Given the description of an element on the screen output the (x, y) to click on. 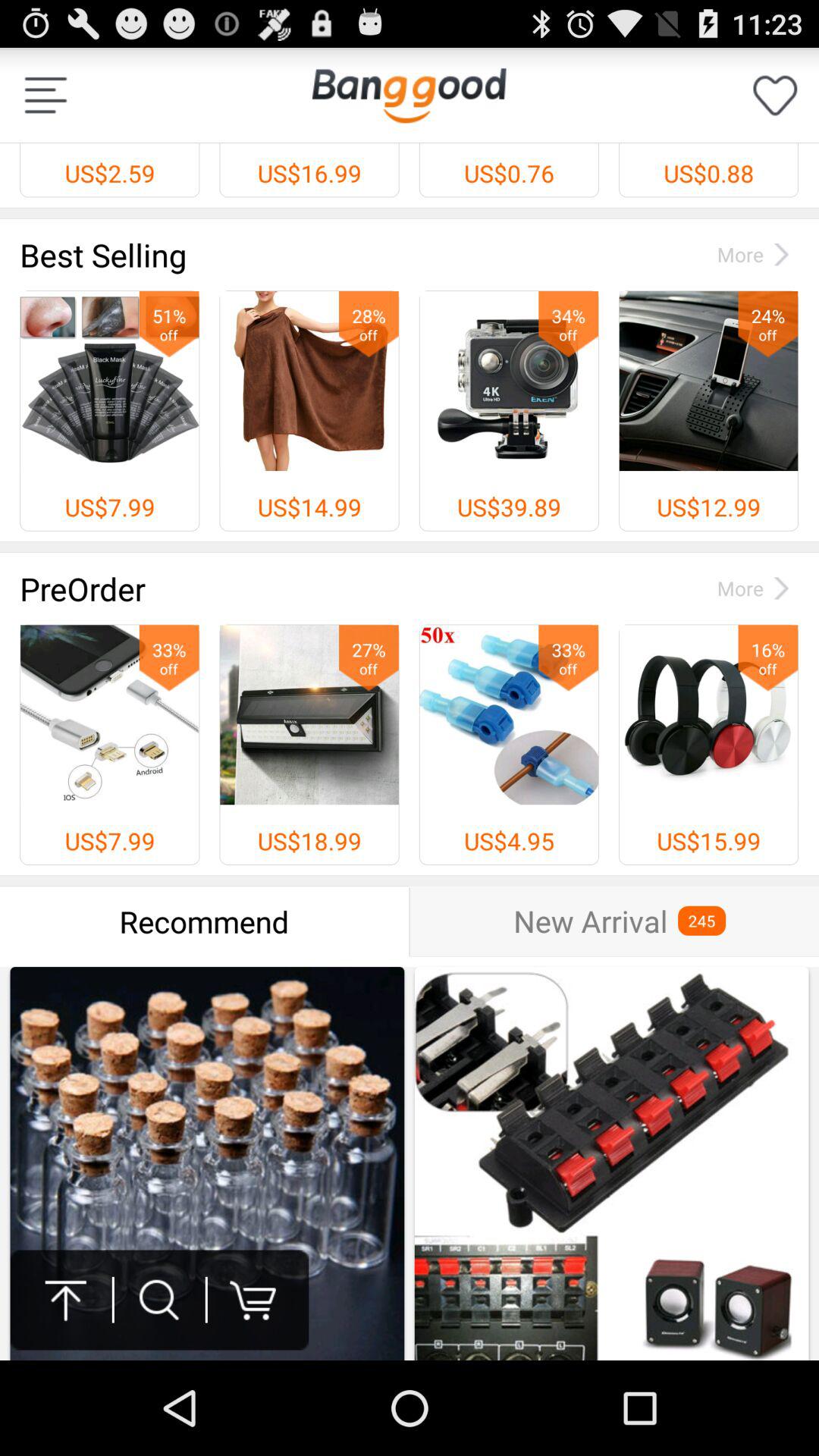
choose icon next to the us$0.88 app (409, 95)
